Given the description of an element on the screen output the (x, y) to click on. 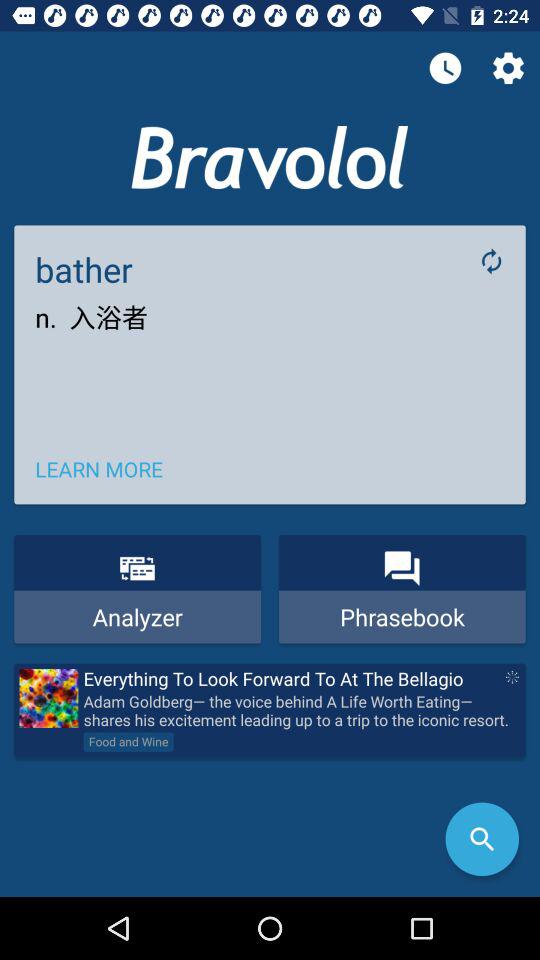
choose item below adam goldberg the (482, 839)
